Given the description of an element on the screen output the (x, y) to click on. 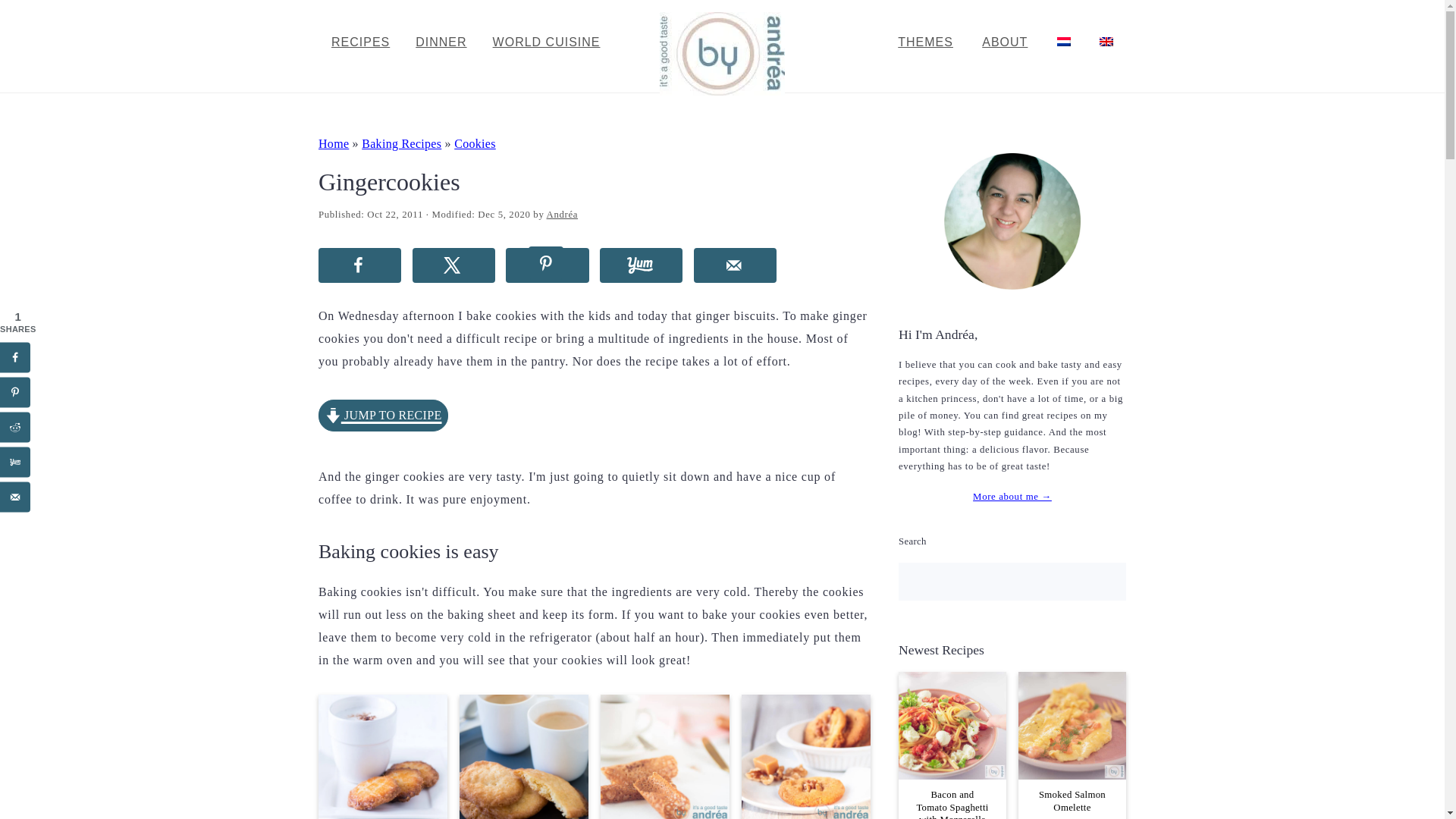
Save to Pinterest (15, 391)
Share on Yummly (640, 265)
Save to Pinterest (546, 265)
Share on Facebook (15, 357)
Share on Reddit (15, 426)
By Andrea Janssen (721, 53)
Send over email (735, 265)
Share on X (453, 265)
By Andrea Janssen (721, 86)
RECIPES (360, 42)
Share on Facebook (359, 265)
